Given the description of an element on the screen output the (x, y) to click on. 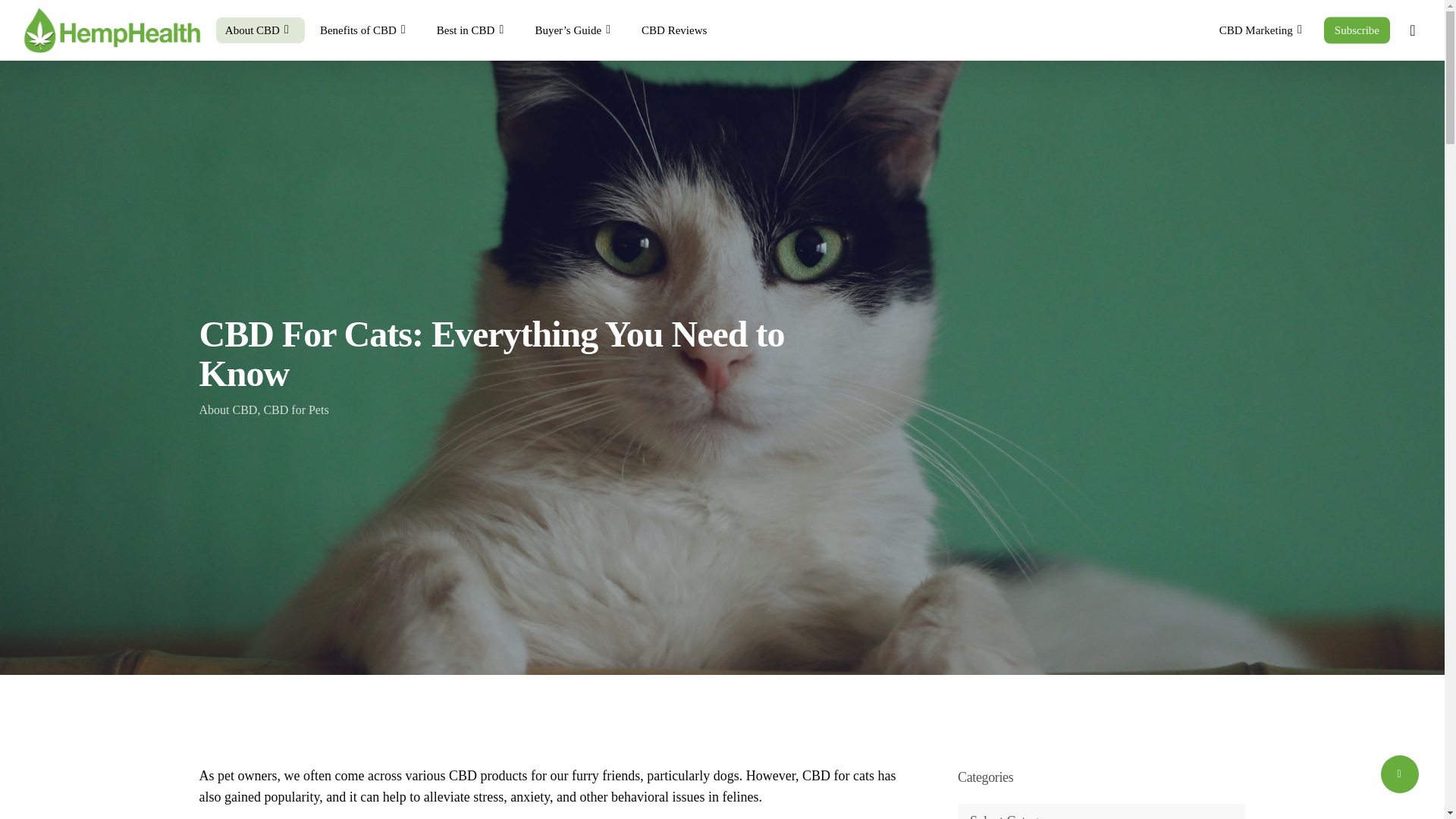
Benefits of CBD (366, 30)
Best in CBD (473, 30)
About CBD (259, 30)
